Given the description of an element on the screen output the (x, y) to click on. 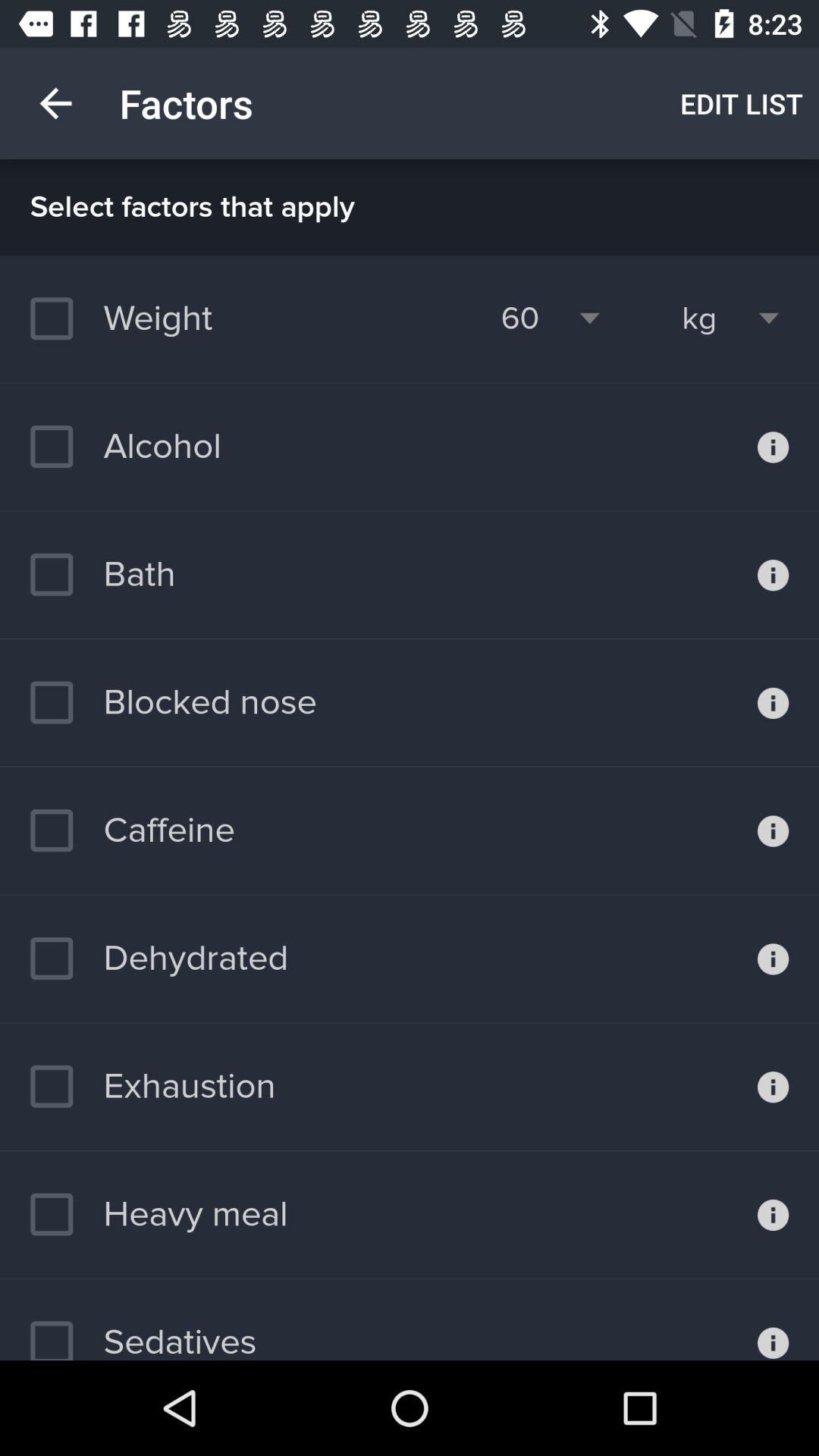
information (773, 574)
